Given the description of an element on the screen output the (x, y) to click on. 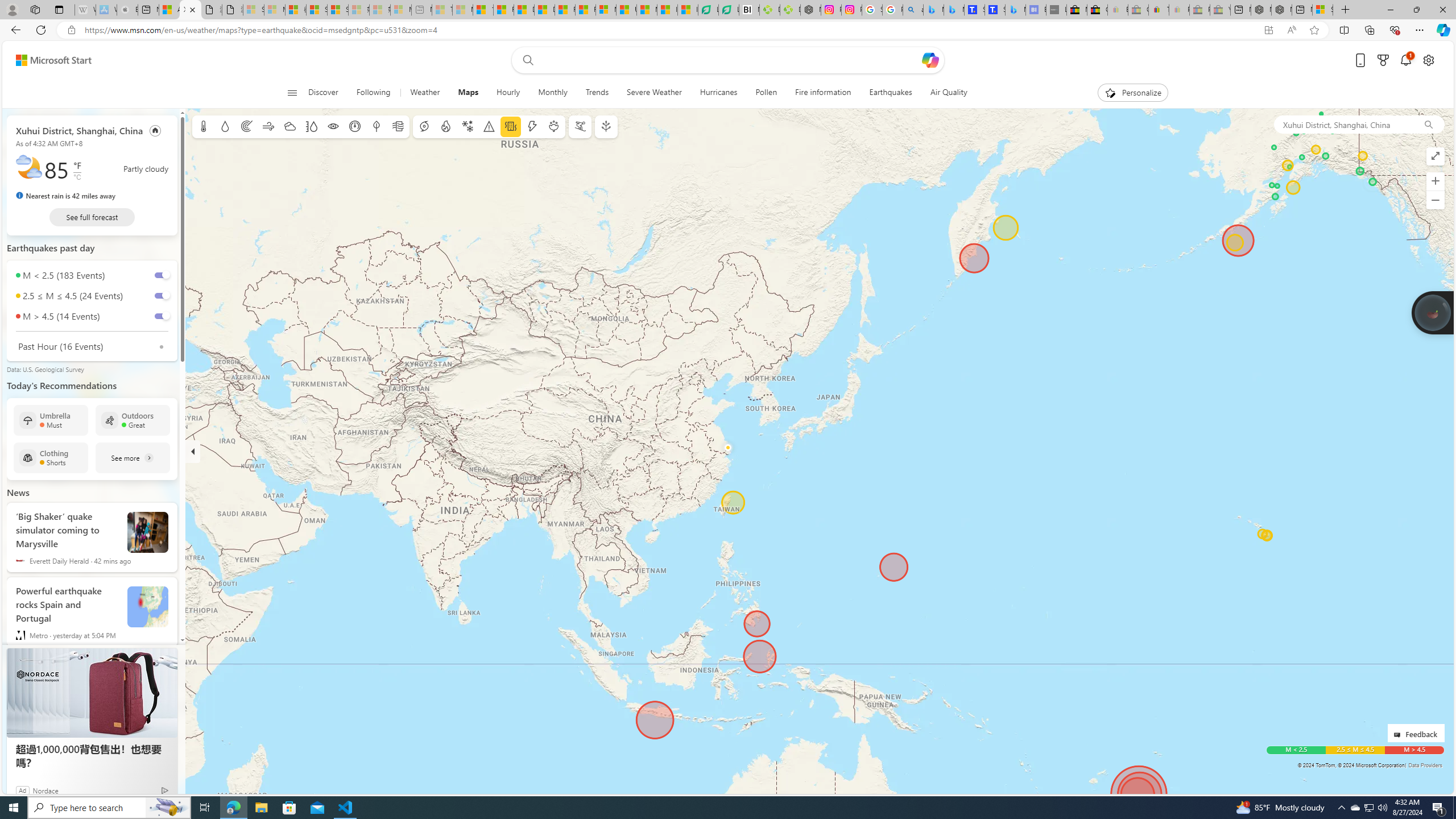
Outdoors Great (133, 419)
Top Stories - MSN - Sleeping (441, 9)
Microsoft account | Account Checkup - Sleeping (400, 9)
Pollen (766, 92)
Personalize (1132, 92)
Earthquakes (890, 92)
Radar (246, 126)
Severe Weather (654, 92)
Hurricanes (718, 92)
Data Providers (1424, 765)
Microsoft Bing Travel - Shangri-La Hotel Bangkok (1015, 9)
Powerful earthquake rocks Spain and Portugal (148, 606)
US Heat Deaths Soared To Record High Last Year (626, 9)
